Given the description of an element on the screen output the (x, y) to click on. 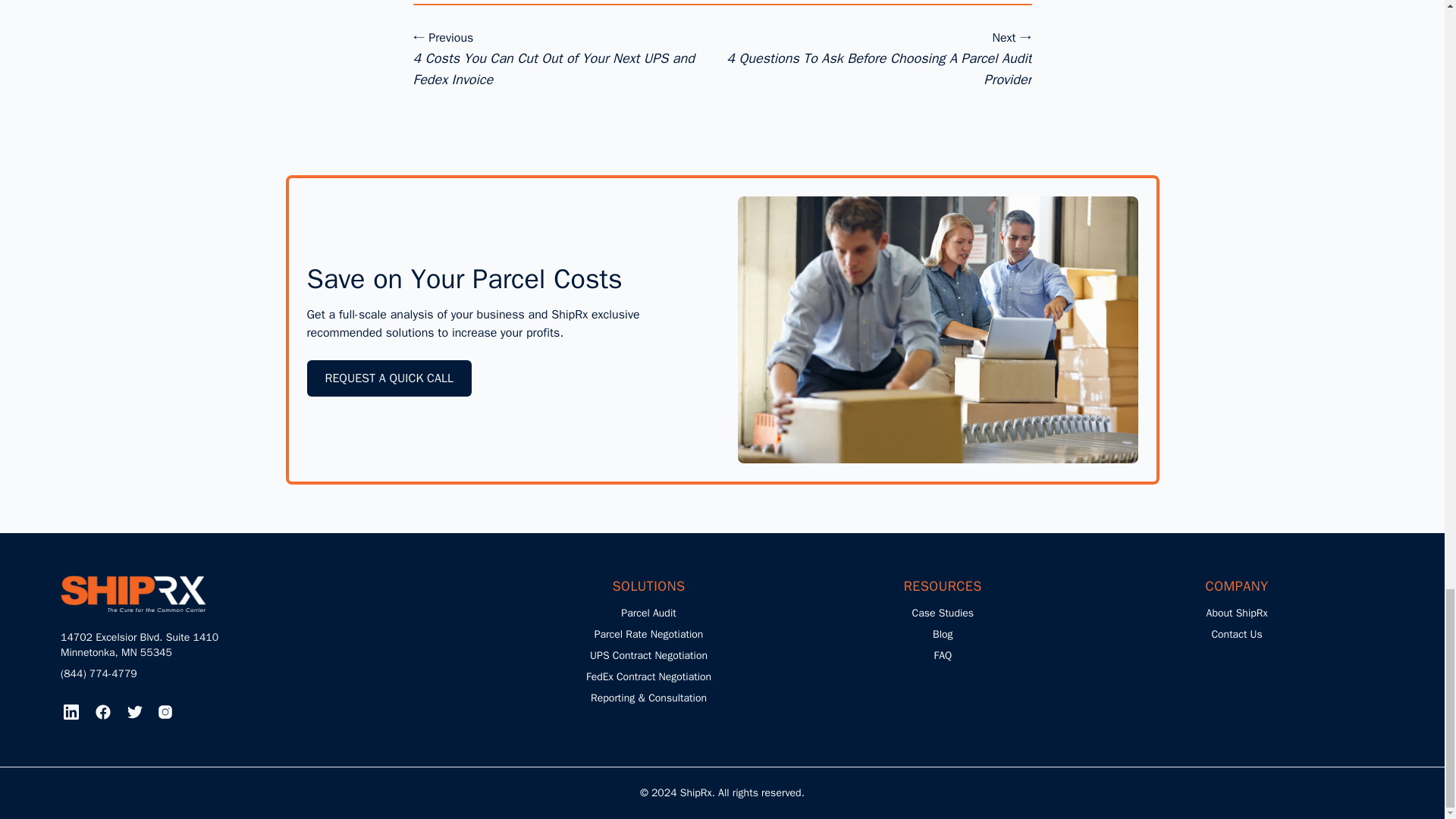
UPS Contract Negotiation (648, 655)
Facebook (102, 711)
REQUEST A QUICK CALL (387, 378)
4 Questions To Ask Before Choosing A Parcel Audit Provider (878, 79)
Parcel Audit (648, 612)
4 Costs You Can Cut Out of Your Next UPS and Fedex Invoice (553, 79)
Parcel Rate Negotiation (648, 634)
